Given the description of an element on the screen output the (x, y) to click on. 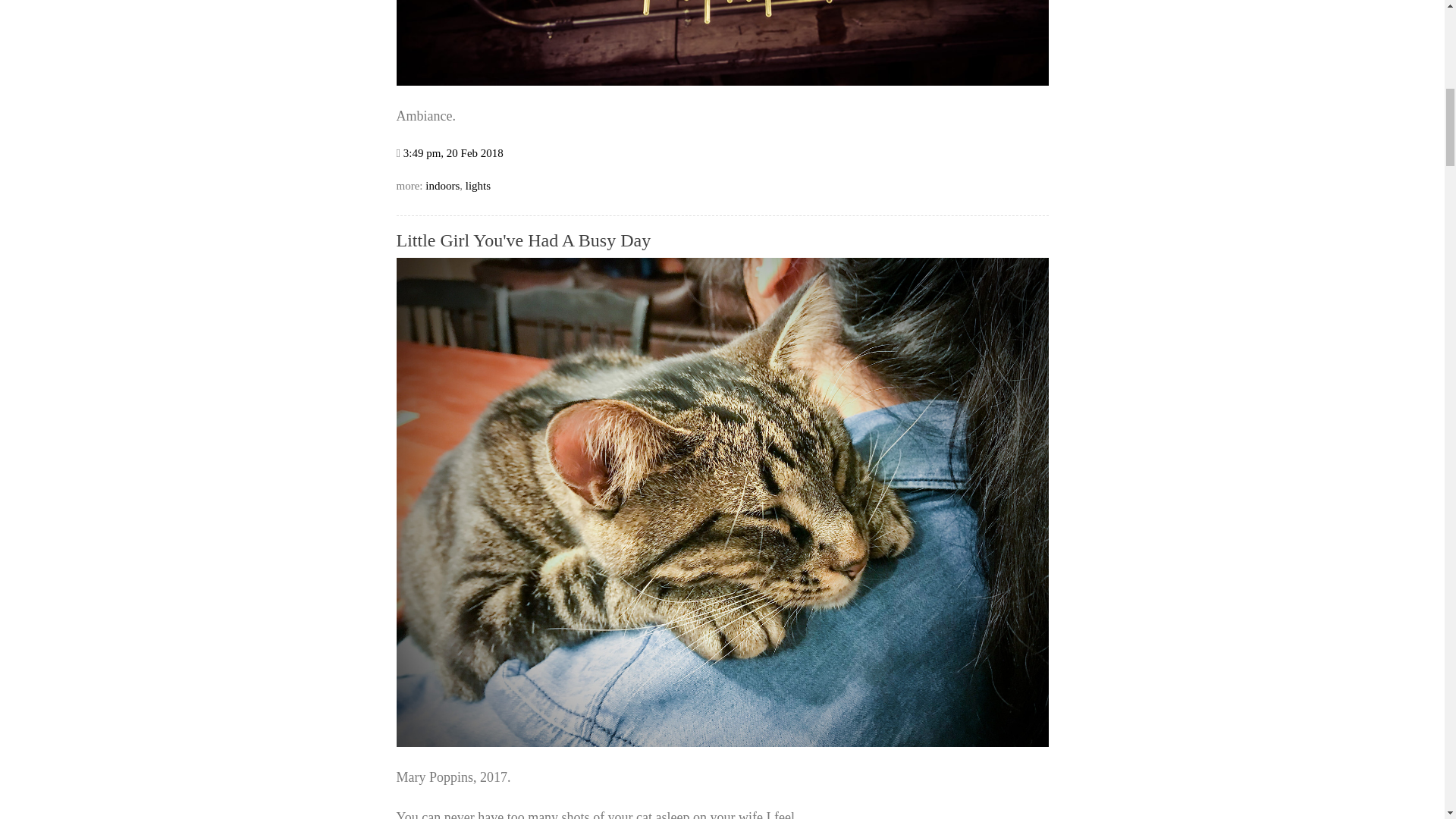
3:49 pm, 20 Feb 2018 (453, 152)
Little Girl You've Had A Busy Day (523, 240)
Little Girl You've Had A Busy Day (722, 742)
Permanent Link to Where The Sound Of My Voice Will Haunt You (453, 152)
indoors (442, 185)
Where The Sound Of My Voice Will Haunt You (722, 80)
Little Girl You've Had A Busy Day (523, 240)
lights (477, 185)
